Given the description of an element on the screen output the (x, y) to click on. 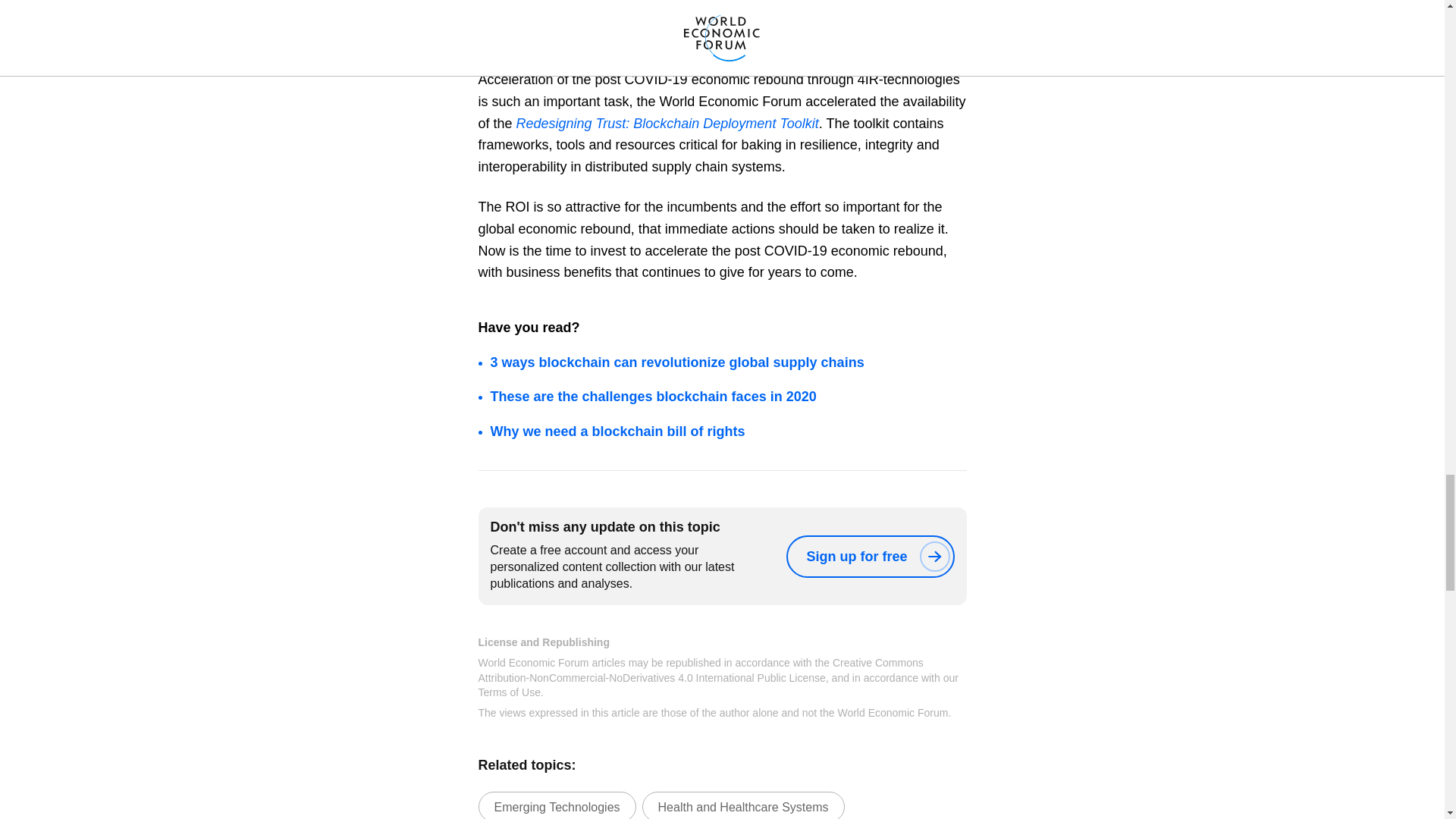
Emerging Technologies (555, 805)
3 ways blockchain can revolutionize global supply chains (676, 362)
Why we need a blockchain bill of rights (616, 431)
Redesigning Trust: Blockchain Deployment Toolkit (667, 123)
These are the challenges blockchain faces in 2020 (652, 396)
Health and Healthcare Systems (743, 805)
Sign up for free (869, 556)
